Given the description of an element on the screen output the (x, y) to click on. 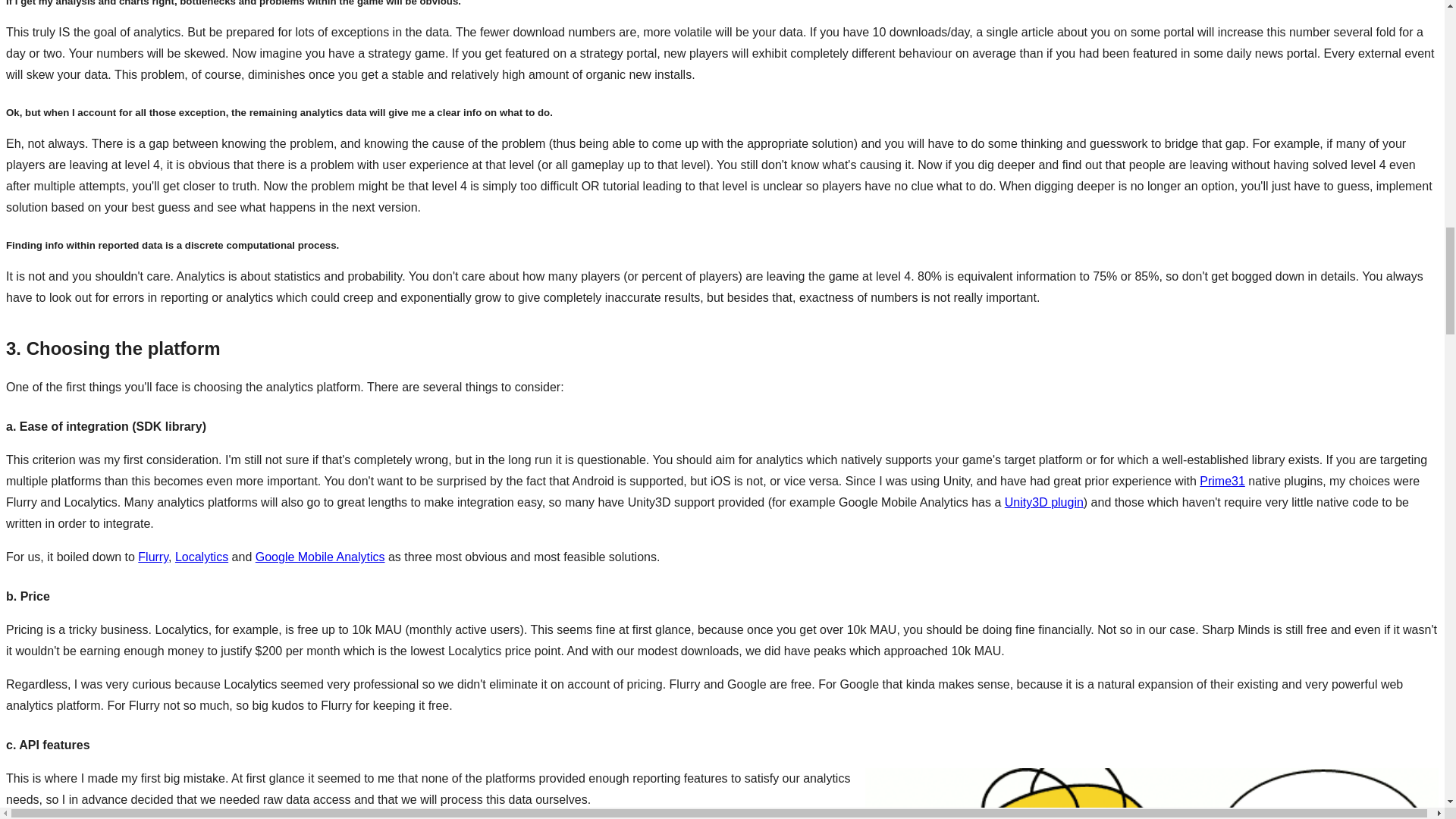
Google Mobile Analytics (320, 556)
Unity3D plugin (1043, 502)
Flurry (153, 556)
Localytics (201, 556)
Prime31 (1221, 481)
